Given the description of an element on the screen output the (x, y) to click on. 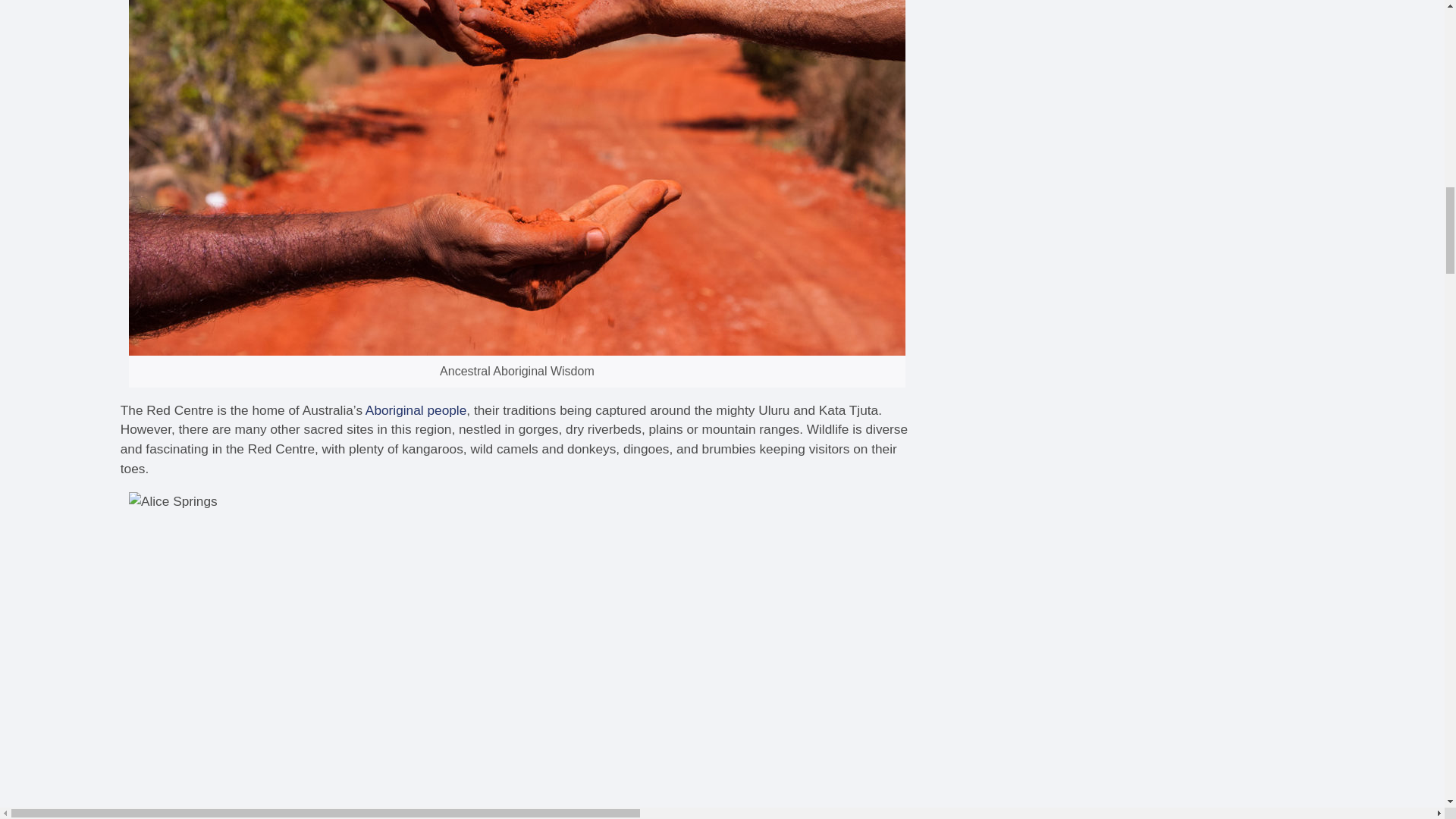
Aboriginal people (415, 409)
